Given the description of an element on the screen output the (x, y) to click on. 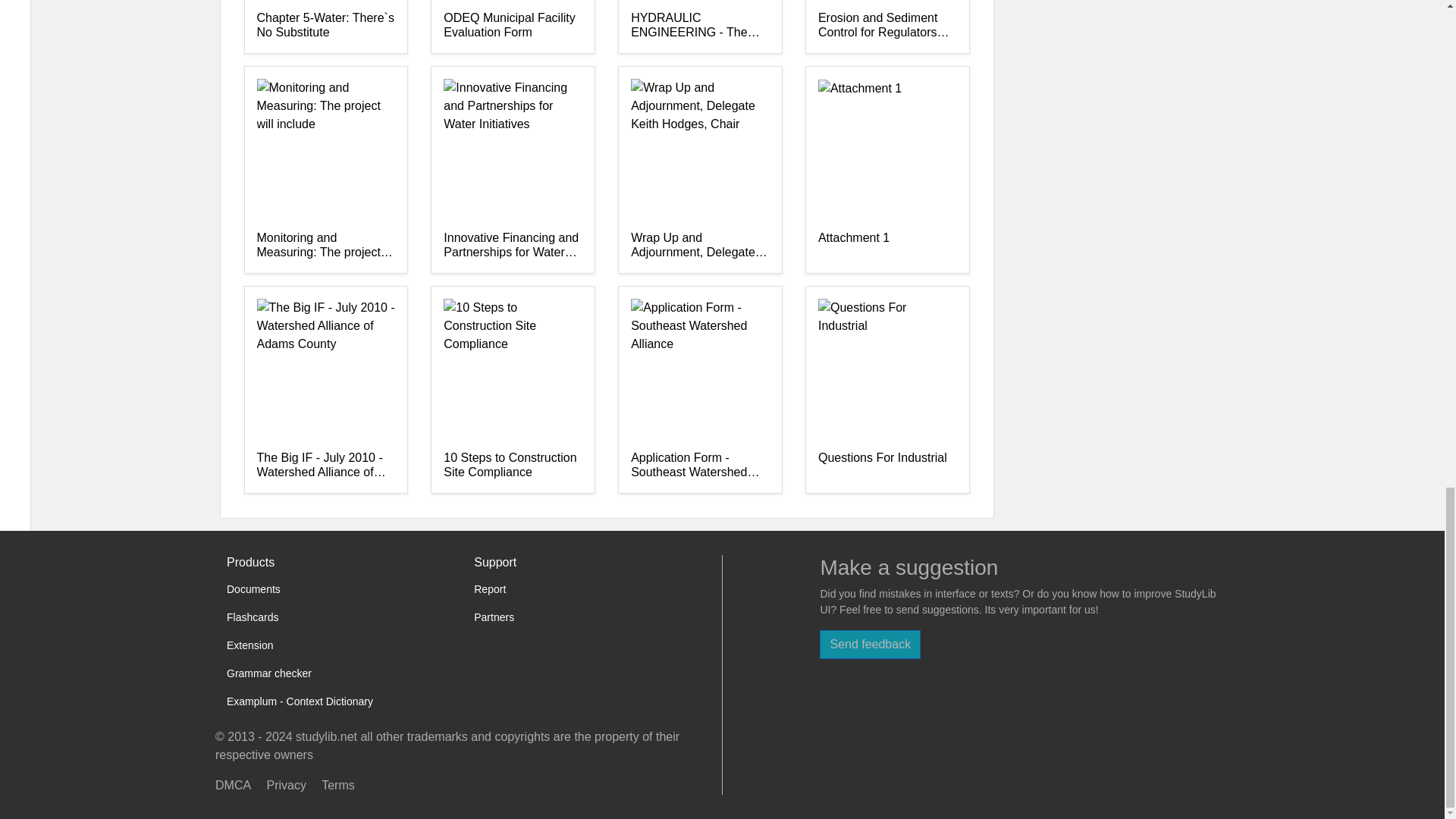
HYDRAULIC ENGINEERING - The University of Auckland (700, 25)
ODEQ Municipal Facility Evaluation Form (513, 25)
ODEQ Municipal Facility Evaluation Form (513, 25)
Monitoring and Measuring: The project will include (325, 245)
Innovative Financing and Partnerships for Water Initiatives (513, 245)
Application Form - Southeast Watershed Alliance (700, 465)
HYDRAULIC ENGINEERING - The University of Auckland (700, 25)
Erosion and Sediment Control for Regulators and Inspectors (887, 25)
10 Steps to Construction Site Compliance (513, 465)
Wrap Up and Adjournment, Delegate Keith Hodges, Chair (700, 245)
The Big IF - July 2010 - Watershed Alliance of Adams County (325, 465)
Attachment 1 (887, 245)
Questions For Industrial (887, 465)
